Given the description of an element on the screen output the (x, y) to click on. 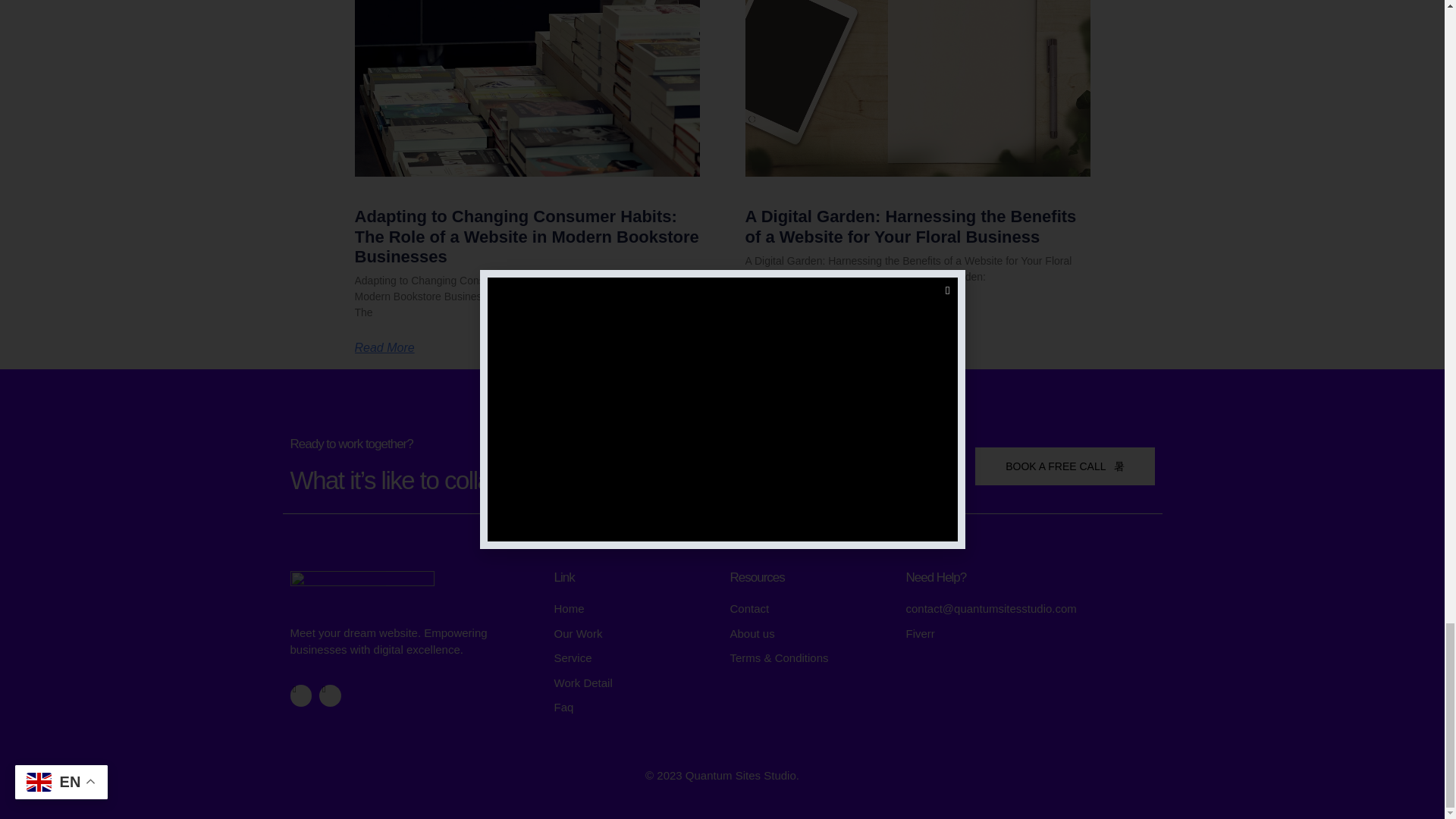
Read More (384, 347)
Service (633, 658)
Work Detail (633, 683)
Contact (809, 609)
Read More (774, 312)
Our Work (633, 633)
Home (633, 609)
BOOK A FREE CALL (1064, 466)
Fiverr (1029, 633)
Faq (633, 707)
About us (809, 633)
